Given the description of an element on the screen output the (x, y) to click on. 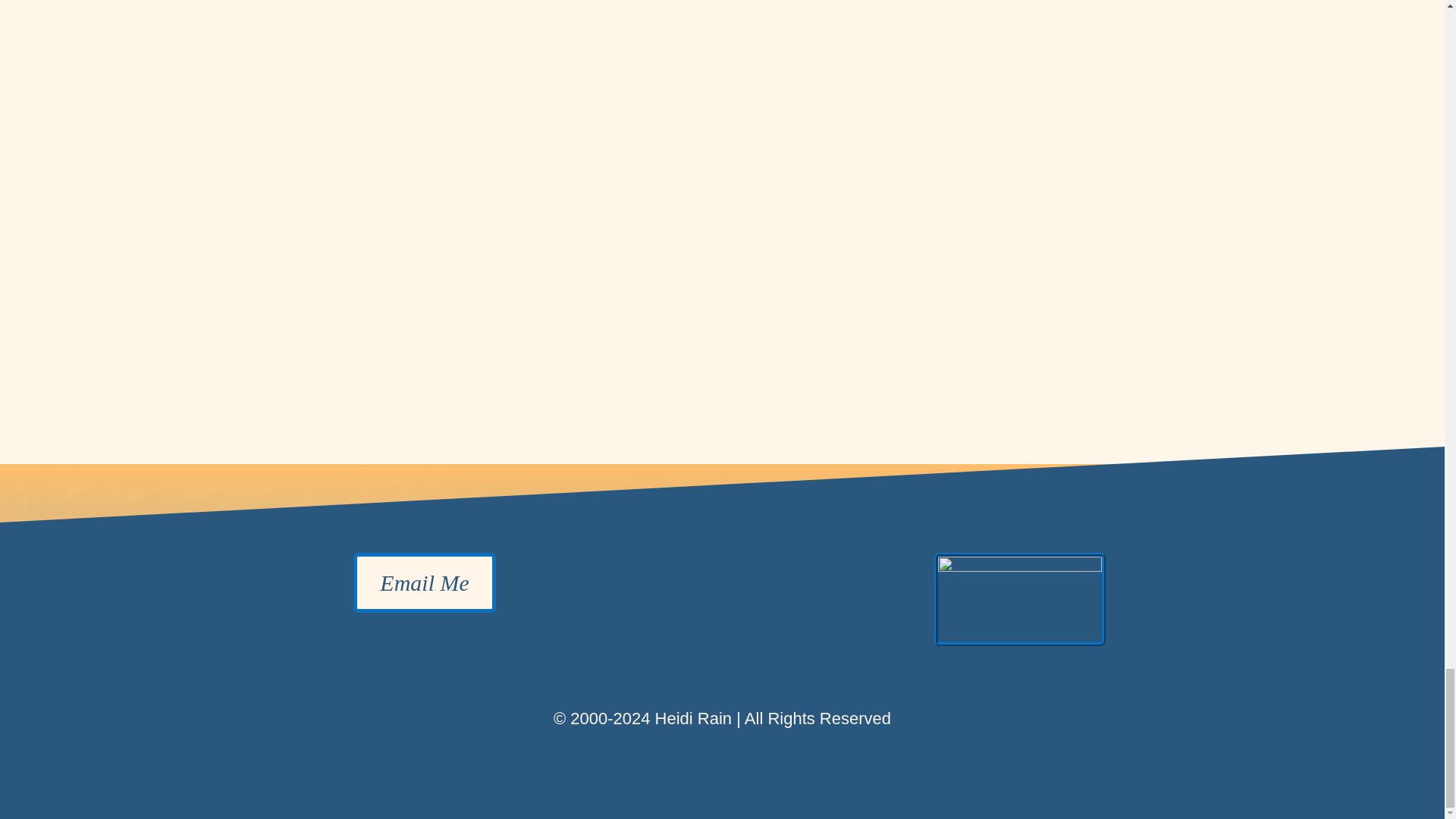
yt-logo (1019, 599)
Email Me (424, 582)
